Given the description of an element on the screen output the (x, y) to click on. 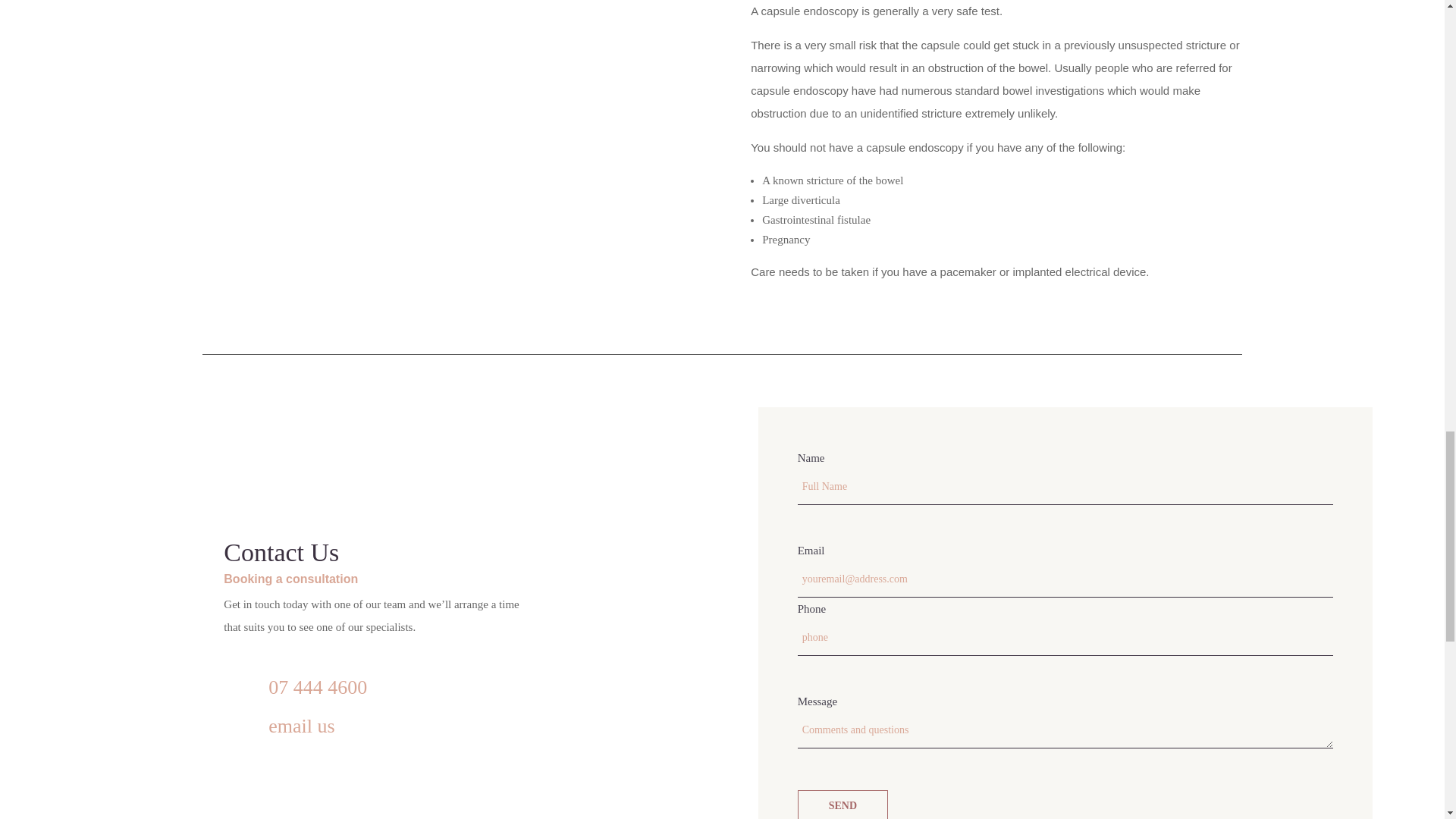
Send (842, 804)
